Given the description of an element on the screen output the (x, y) to click on. 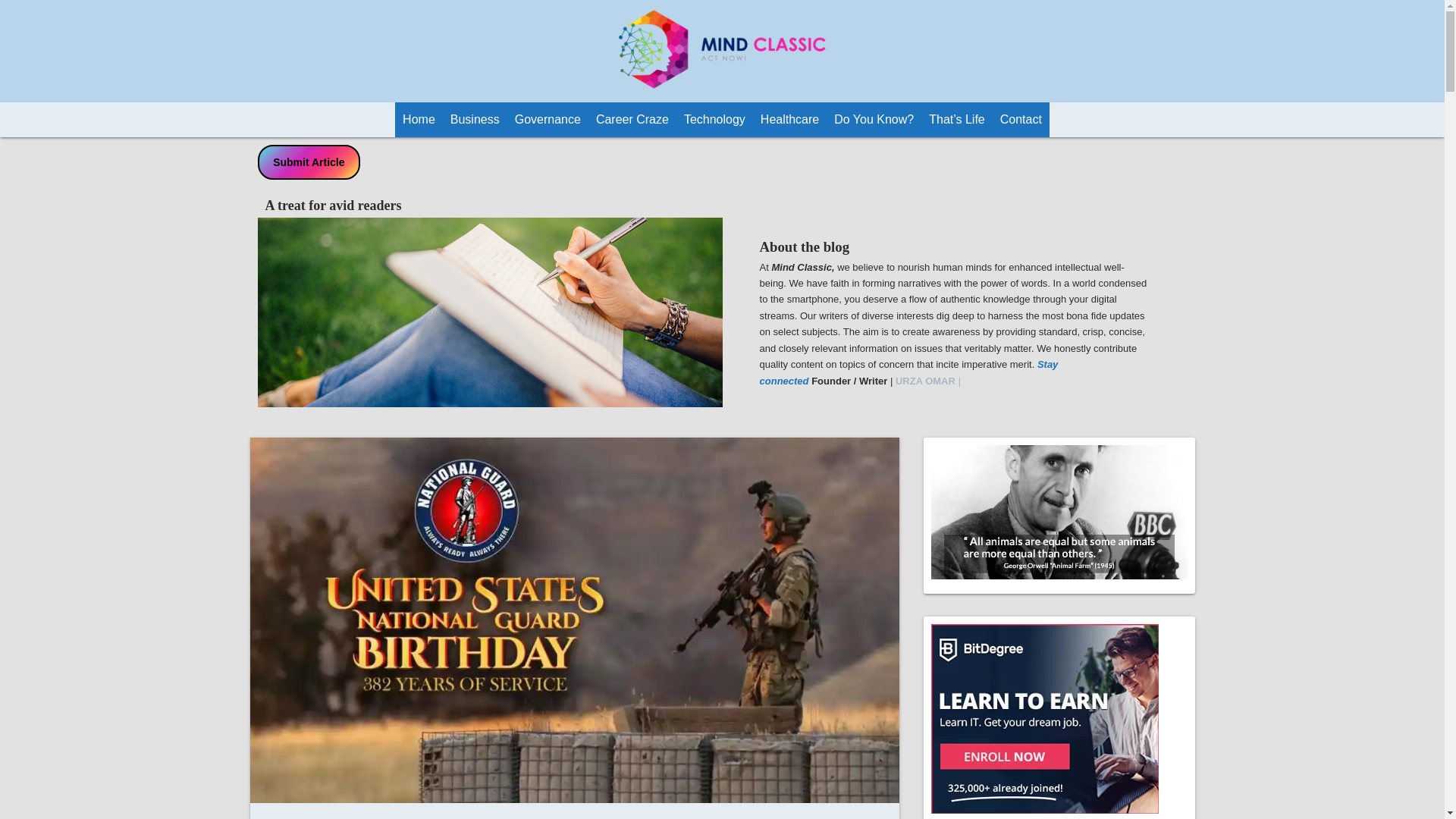
Do You Know? (874, 119)
Governance (547, 119)
Career Craze (631, 119)
Contact (1021, 119)
Business (474, 119)
Submit Article (309, 161)
Healthcare (789, 119)
Technology (714, 119)
Home (419, 119)
